Given the description of an element on the screen output the (x, y) to click on. 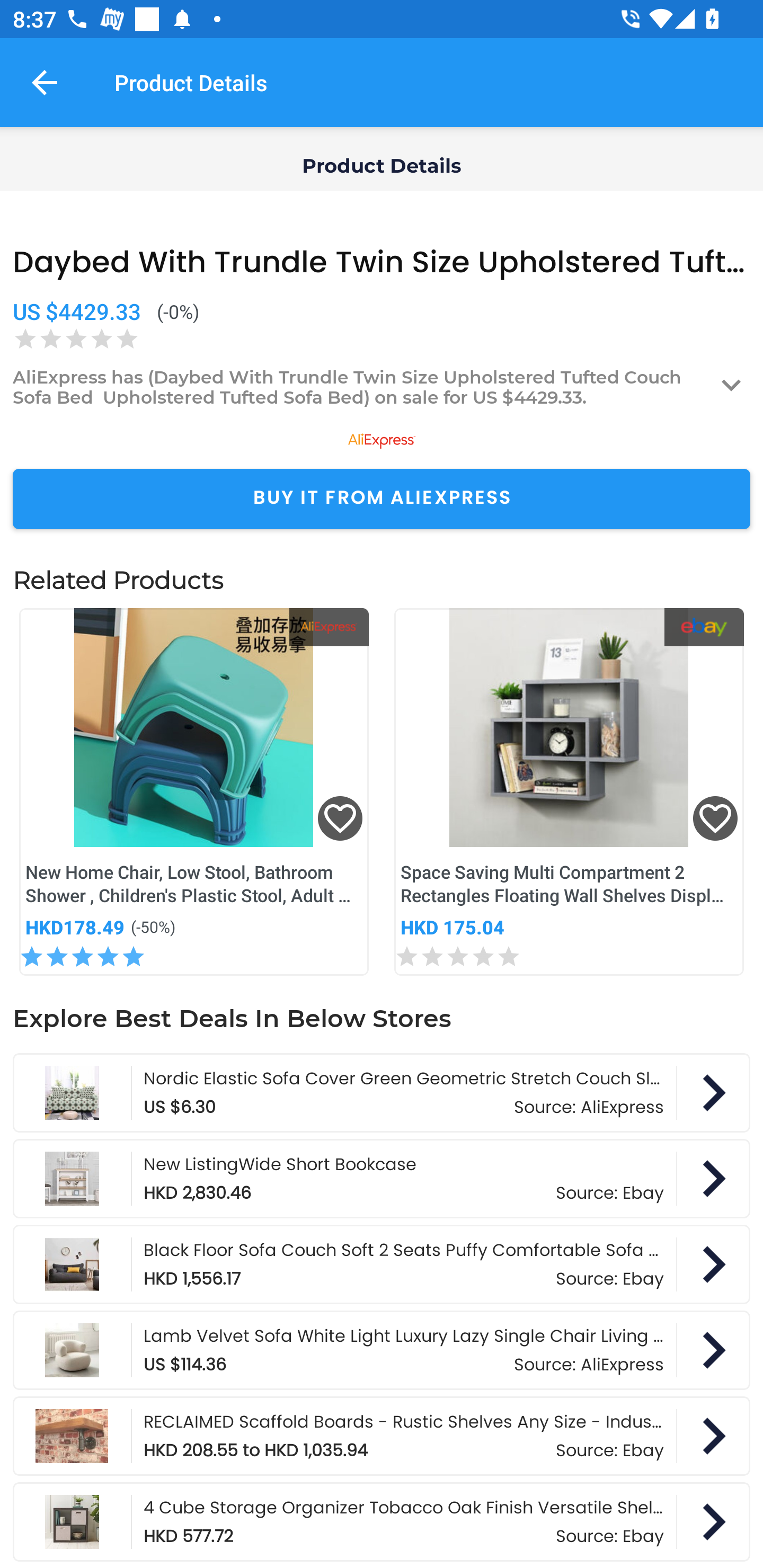
Navigate up (44, 82)
BUY IT FROM ALIEXPRESS (381, 499)
